Given the description of an element on the screen output the (x, y) to click on. 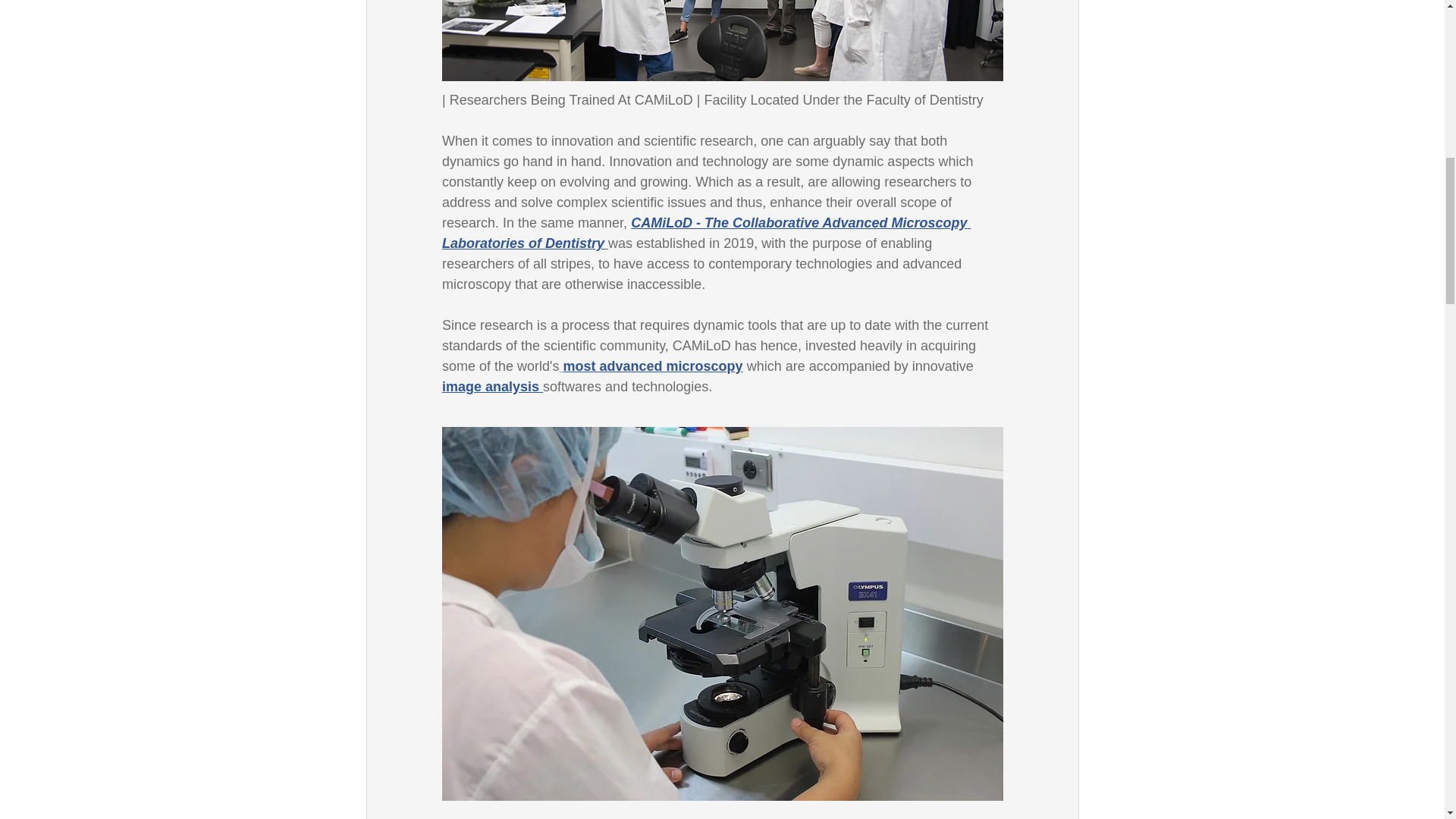
image analysis  (491, 386)
most advanced microscopy (652, 365)
